Given the description of an element on the screen output the (x, y) to click on. 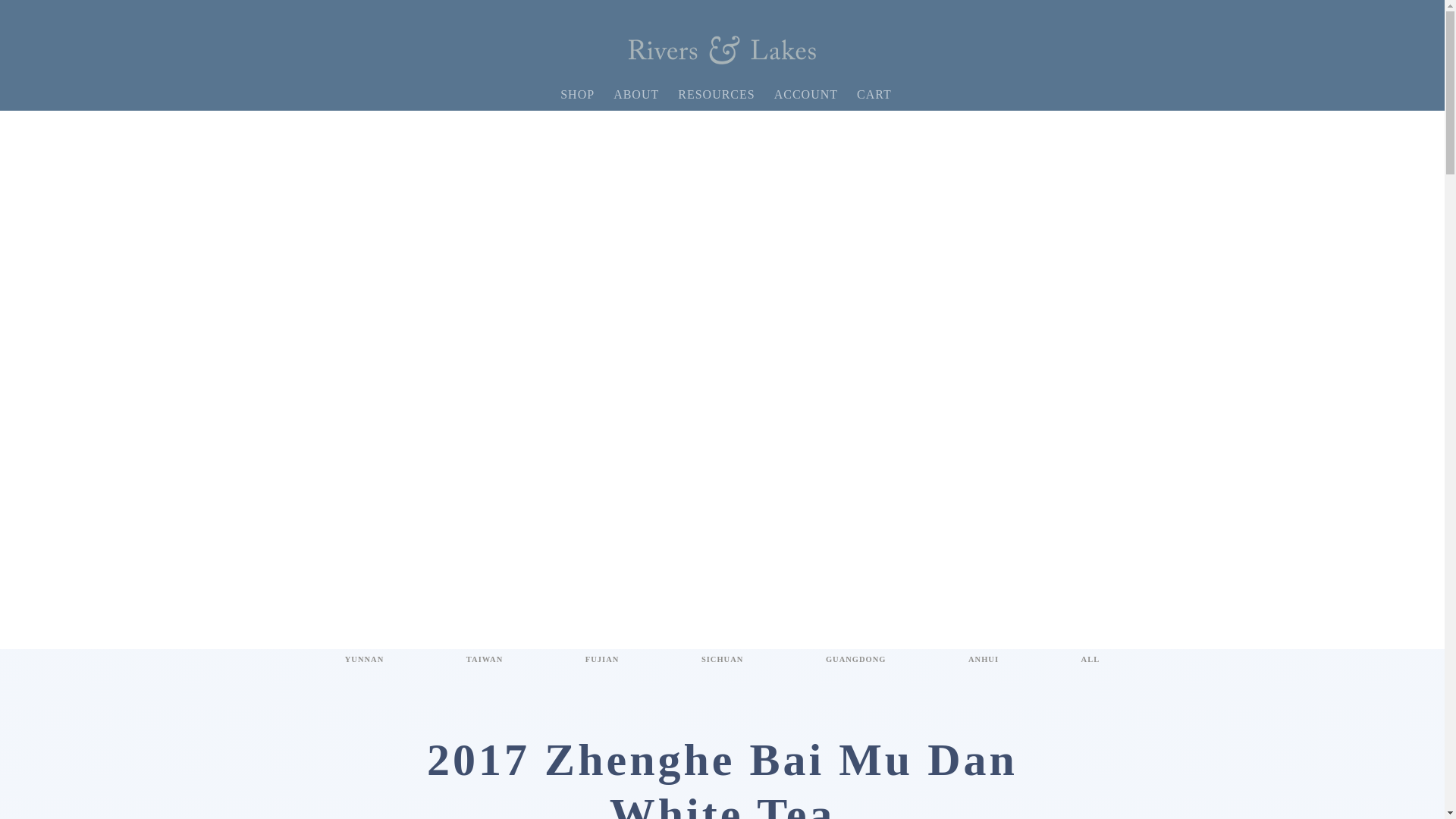
SHOP (577, 94)
YUNNAN (364, 659)
SICHUAN (721, 659)
ABOUT (636, 94)
ALL (1090, 659)
ANHUI (983, 659)
GUANGDONG (855, 659)
FUJIAN (602, 659)
RESOURCES (716, 94)
CART (874, 94)
